Given the description of an element on the screen output the (x, y) to click on. 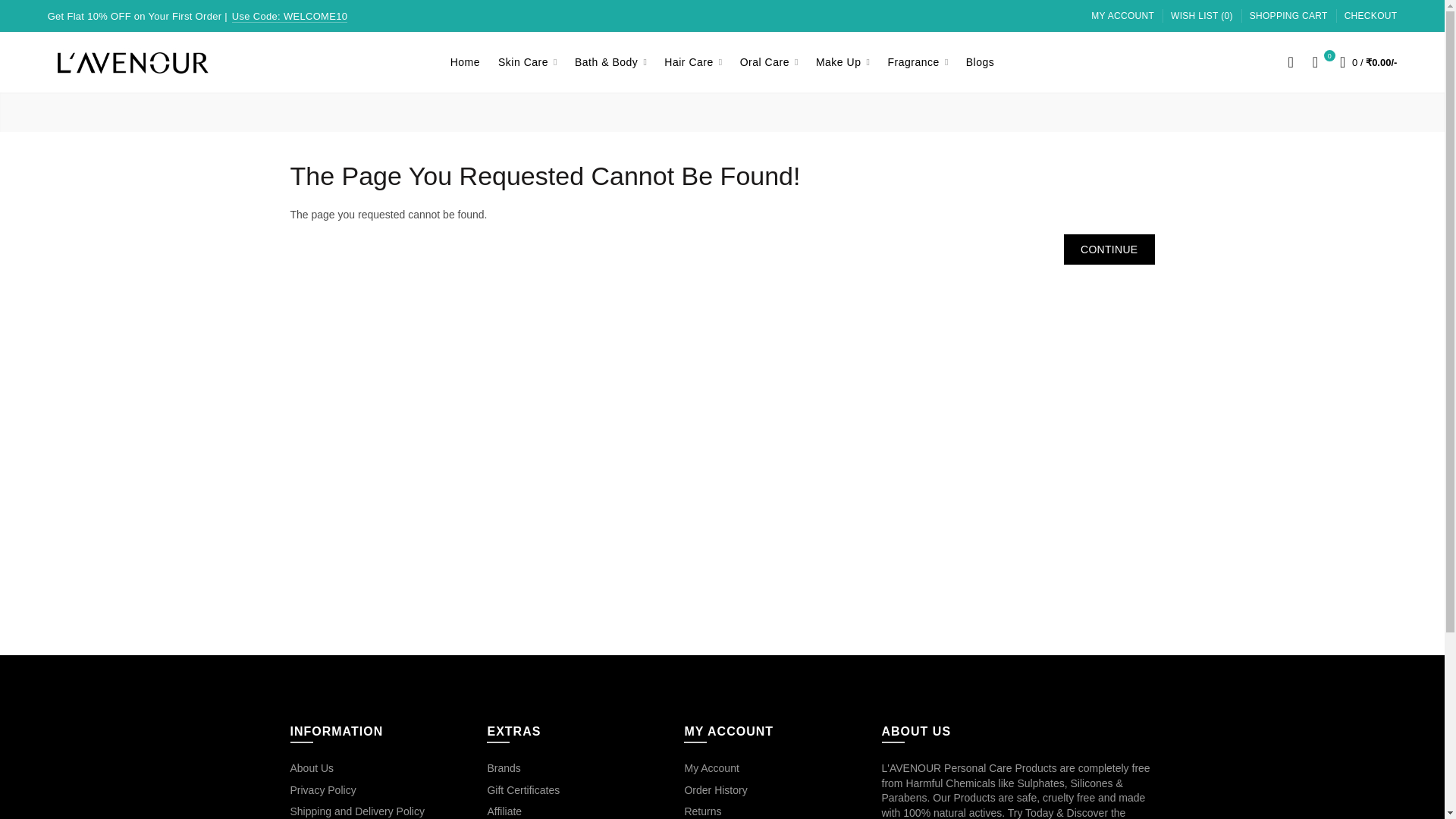
L'AVENOUR (133, 62)
My Account (1122, 16)
Checkout (1370, 16)
Shopping Cart (1288, 16)
